Given the description of an element on the screen output the (x, y) to click on. 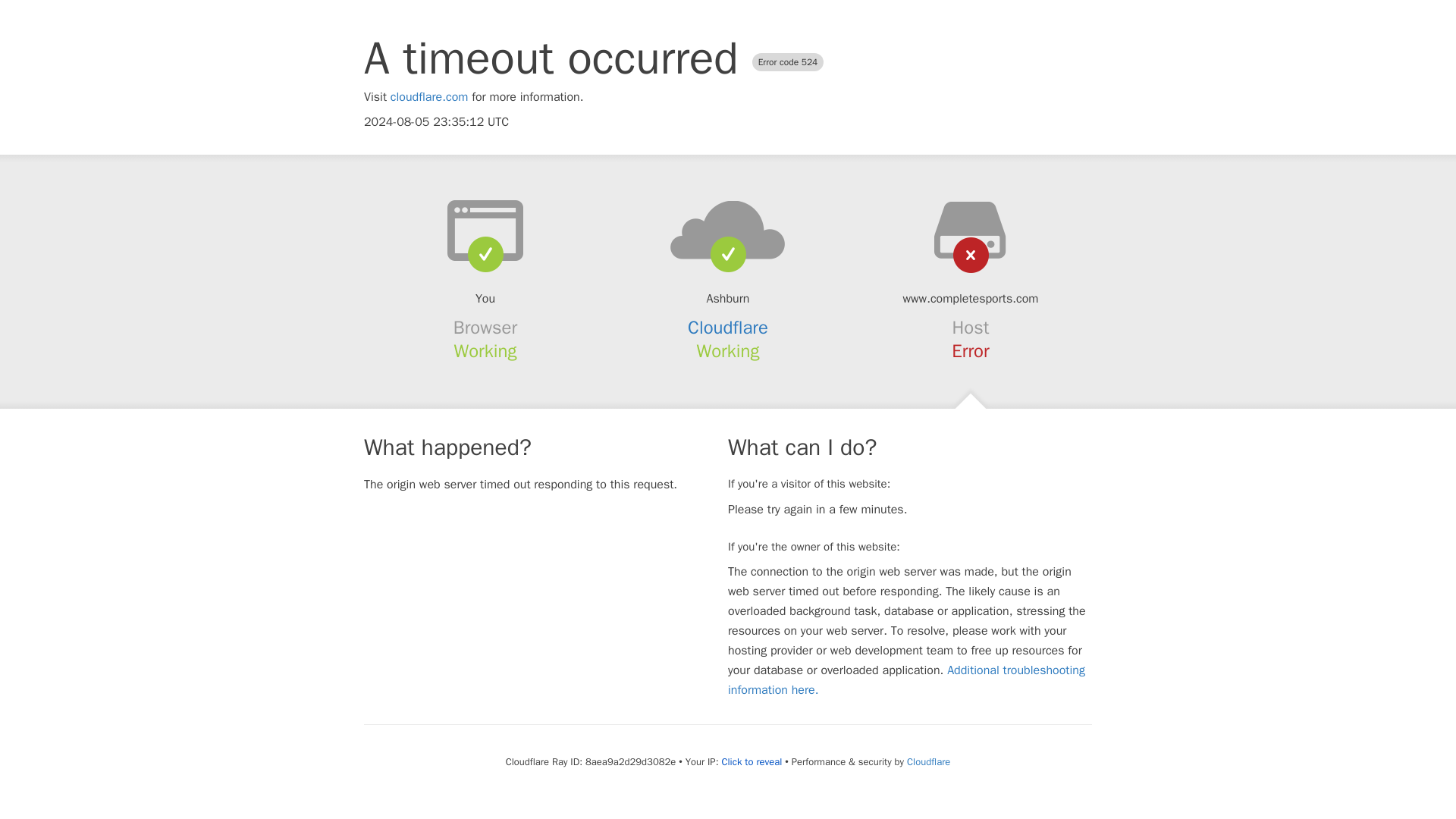
Click to reveal (750, 762)
Additional troubleshooting information here. (906, 679)
cloudflare.com (429, 96)
Cloudflare (928, 761)
Cloudflare (727, 327)
